Given the description of an element on the screen output the (x, y) to click on. 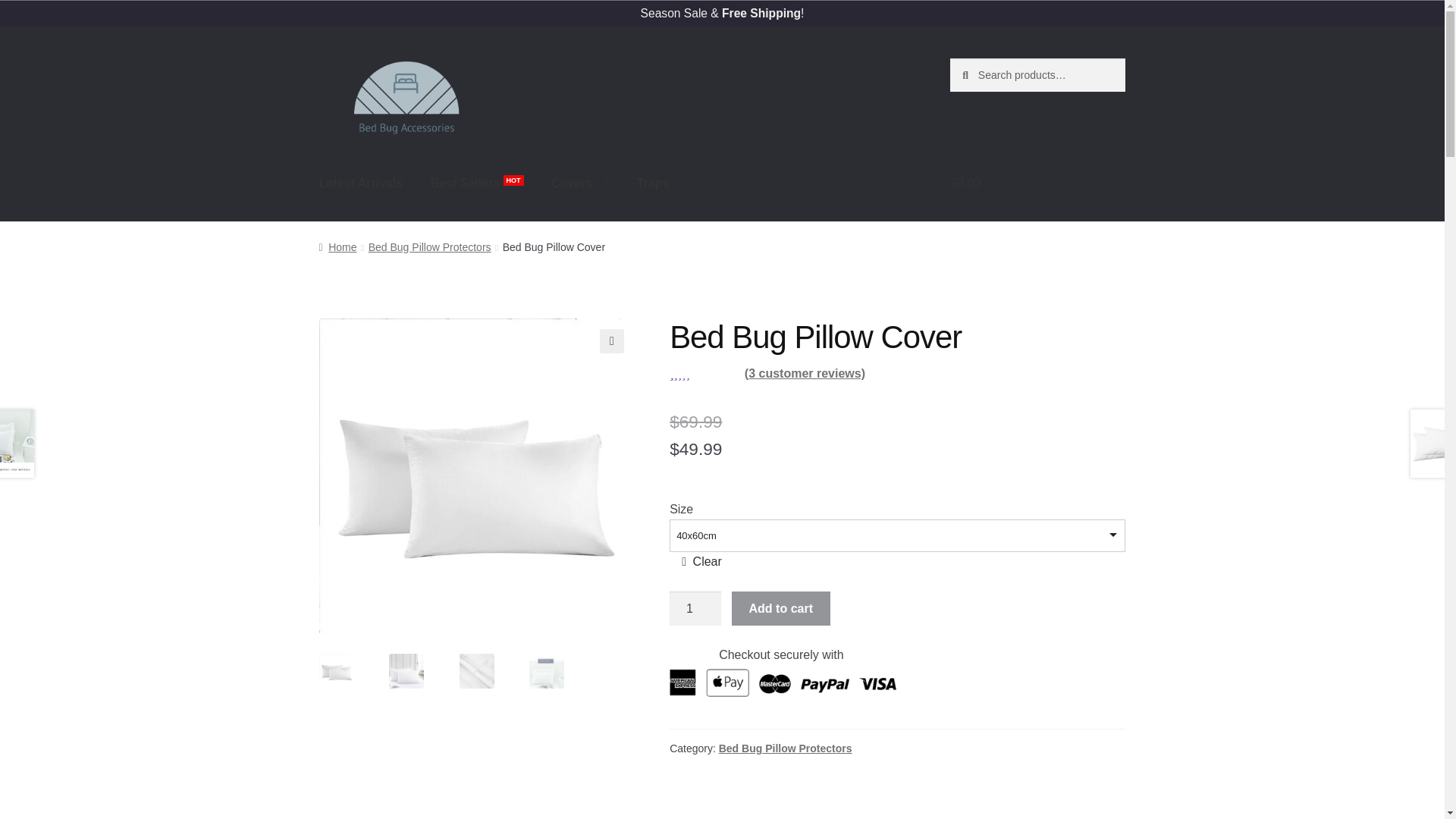
Home (337, 246)
Latest Arrivals (360, 182)
Traps (661, 182)
1 (694, 608)
View your shopping cart (1037, 182)
Best Sellers HOT (477, 182)
Bed Bug Pillow Protectors (430, 246)
Covers (579, 182)
